Given the description of an element on the screen output the (x, y) to click on. 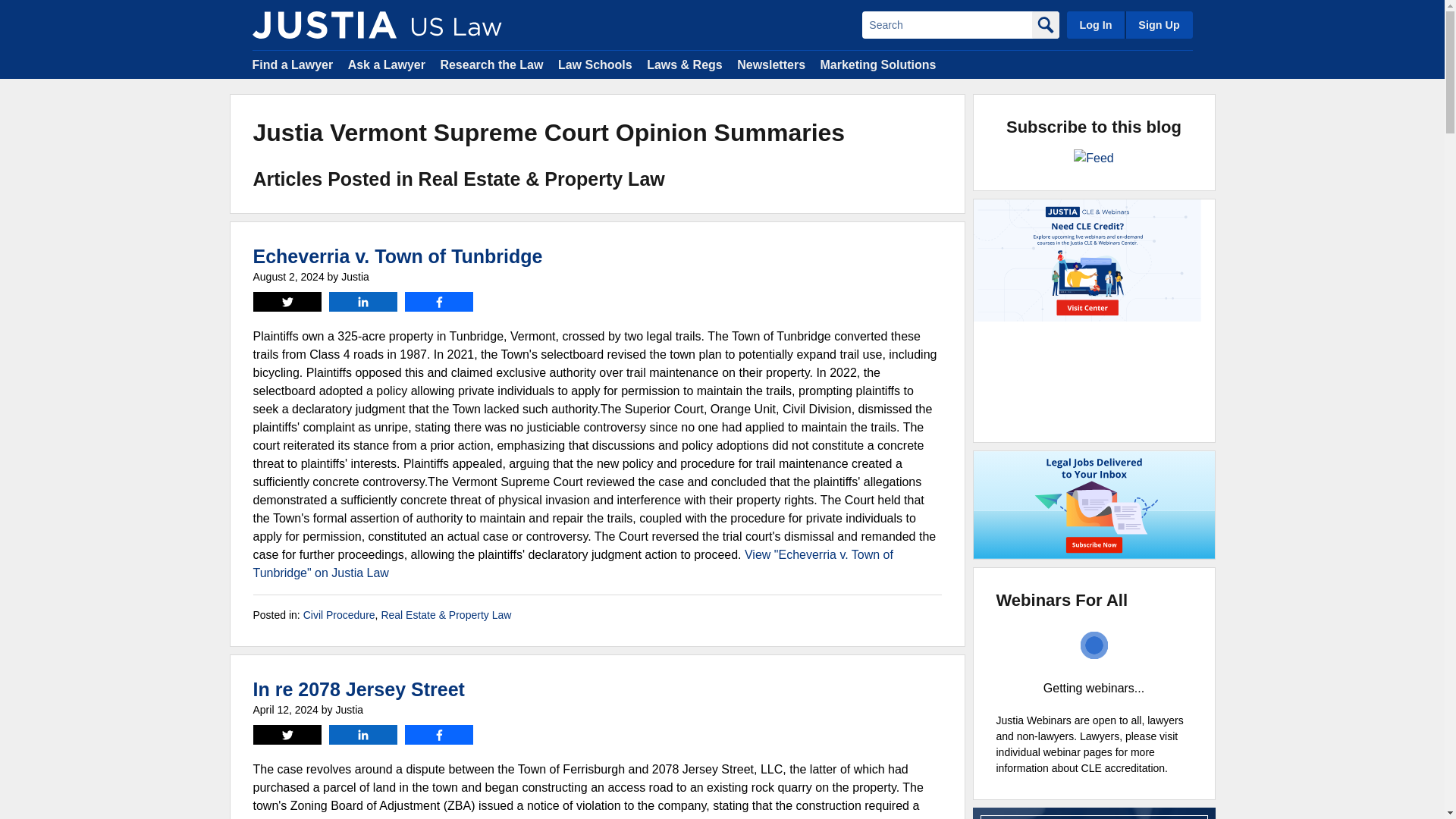
View all posts in Civil Procedure (338, 614)
Research the Law (491, 64)
Search (945, 24)
Find a Lawyer (292, 64)
Law Schools (594, 64)
Sign Up (1158, 24)
Permalink to Echeverria v. Town of Tunbridge (398, 255)
Log In (1094, 24)
Permalink to In re 2078 Jersey Street (358, 689)
Marketing Solutions (877, 64)
